Given the description of an element on the screen output the (x, y) to click on. 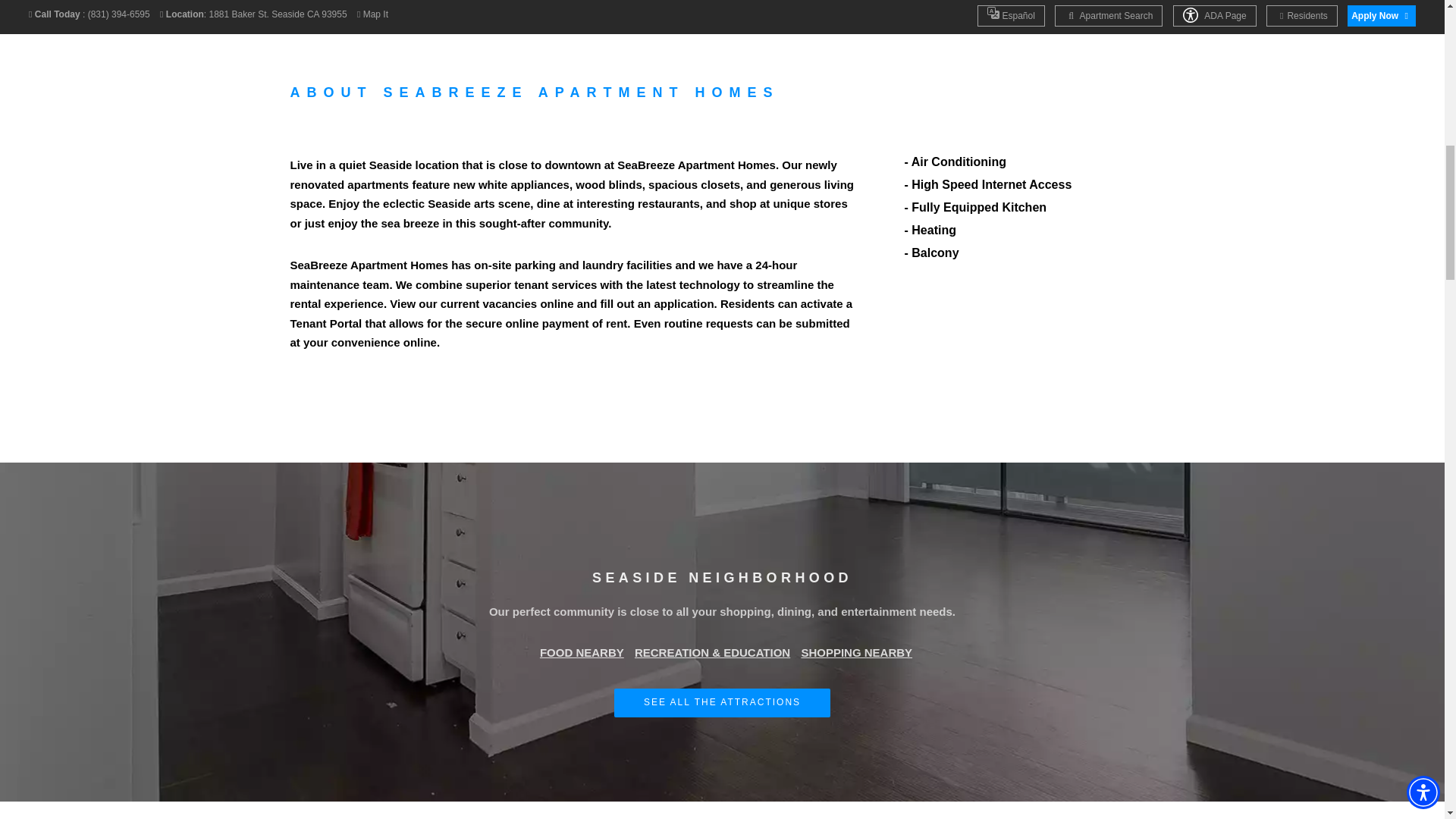
SEE ALL THE ATTRACTIONS (721, 702)
SHOPPING NEARBY (856, 653)
SEE ALL THE ATTRACTIONS (721, 702)
FOOD NEARBY (582, 653)
